Given the description of an element on the screen output the (x, y) to click on. 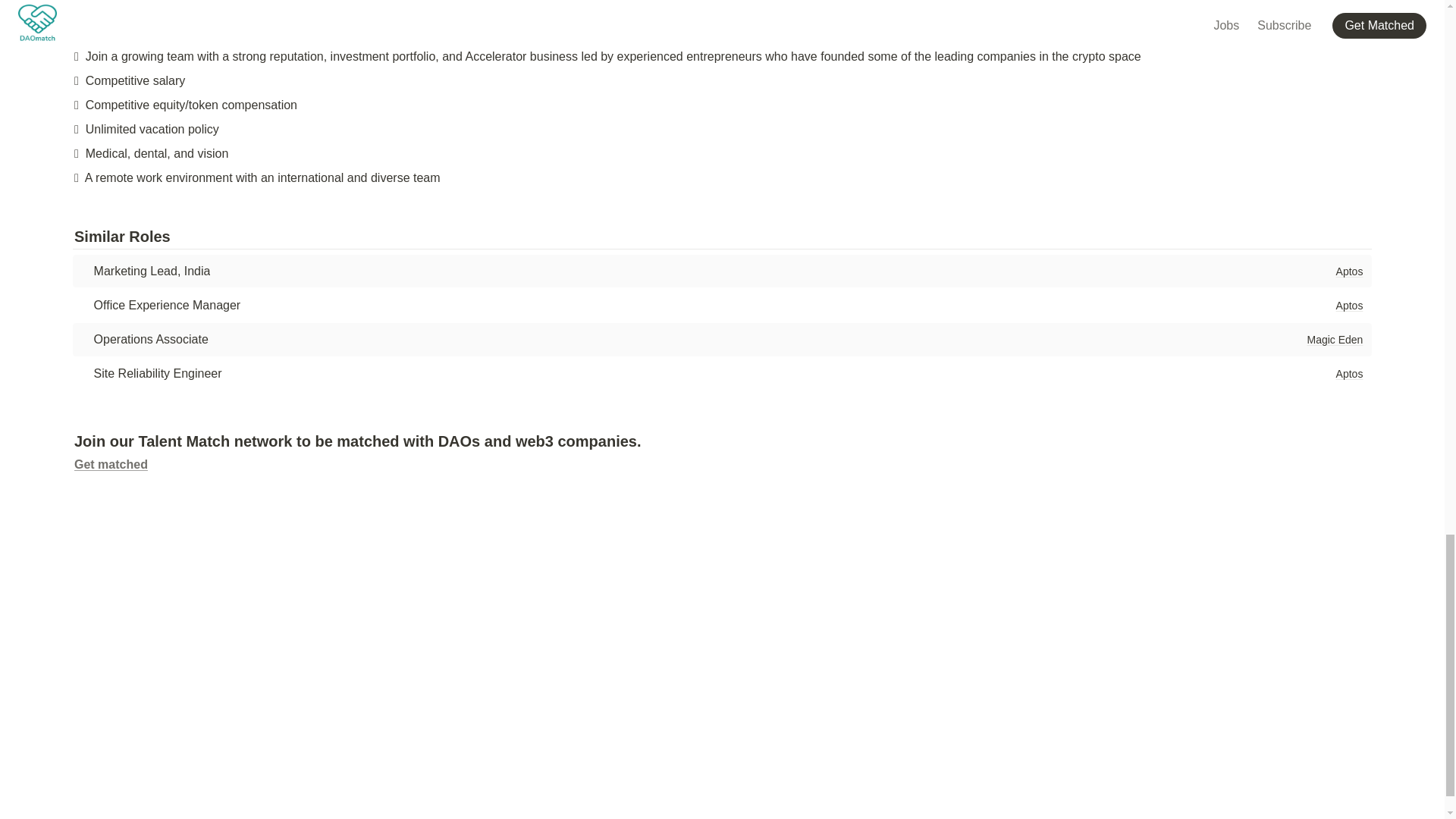
Aptos (1349, 271)
Aptos (1349, 373)
Magic Eden (1334, 339)
Get matched (111, 463)
Aptos (1349, 305)
